Given the description of an element on the screen output the (x, y) to click on. 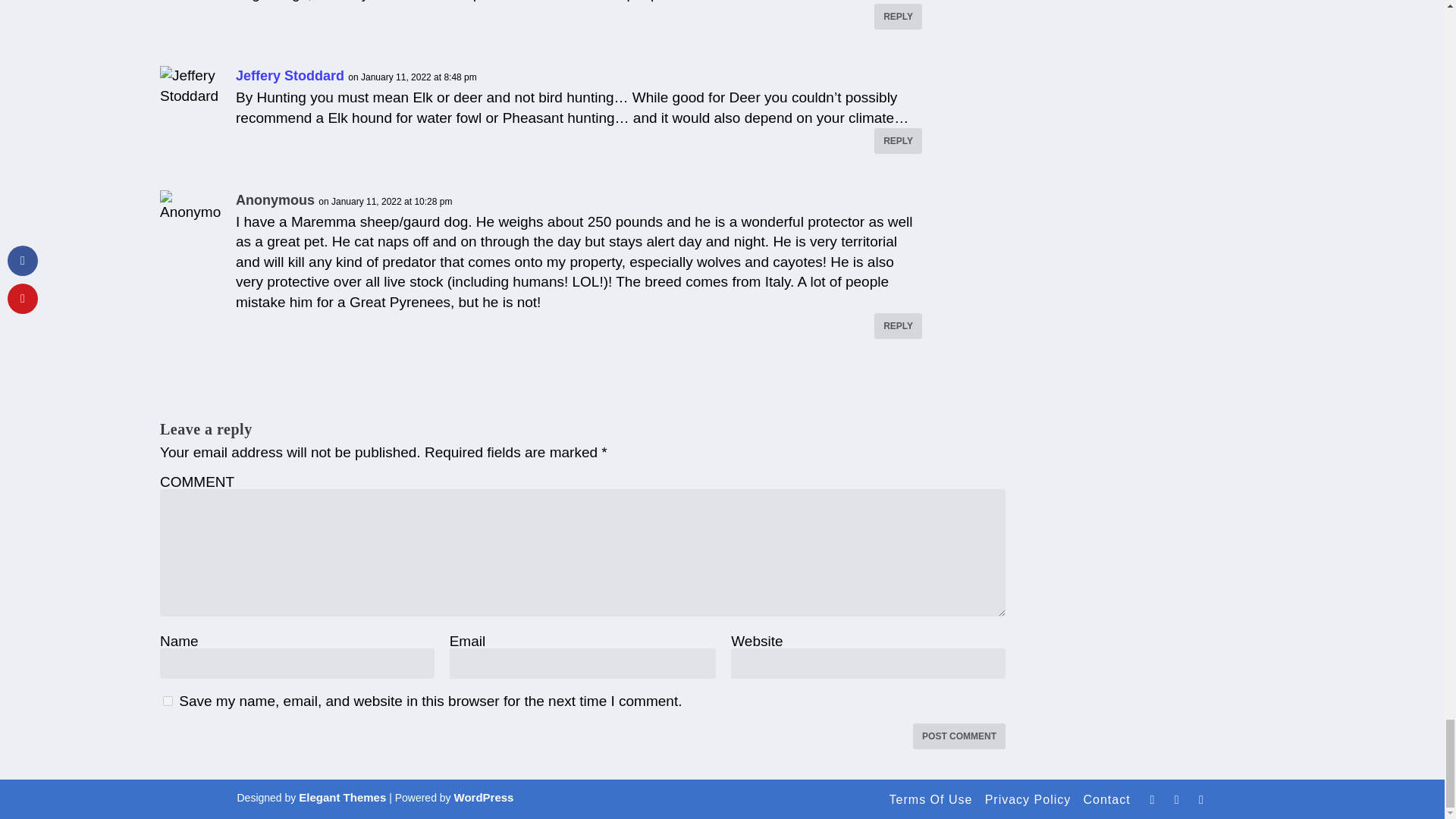
REPLY (898, 140)
yes (168, 700)
Jeffery Stoddard (289, 75)
Premium WordPress Themes (341, 797)
Post Comment (959, 736)
REPLY (898, 325)
REPLY (898, 16)
